Given the description of an element on the screen output the (x, y) to click on. 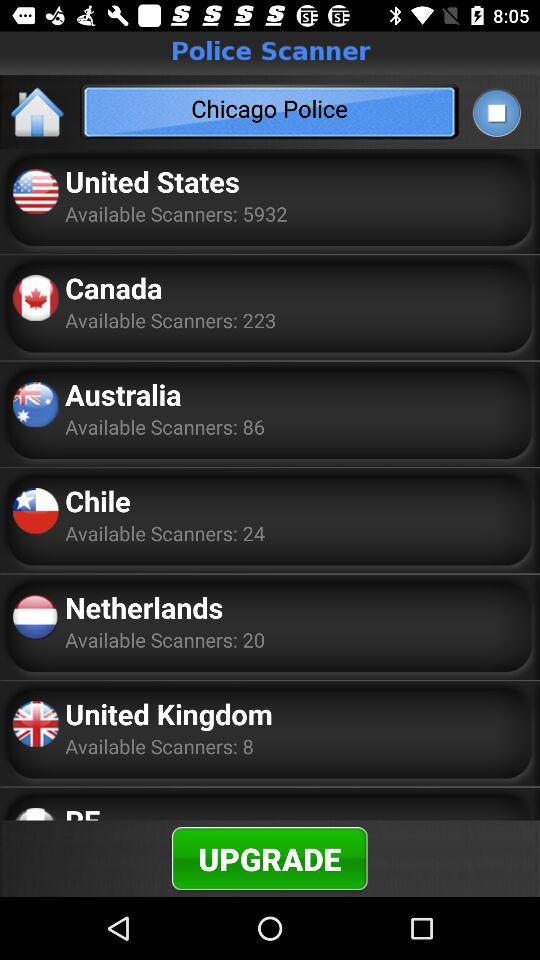
press the icon next to chicago police app (496, 111)
